Given the description of an element on the screen output the (x, y) to click on. 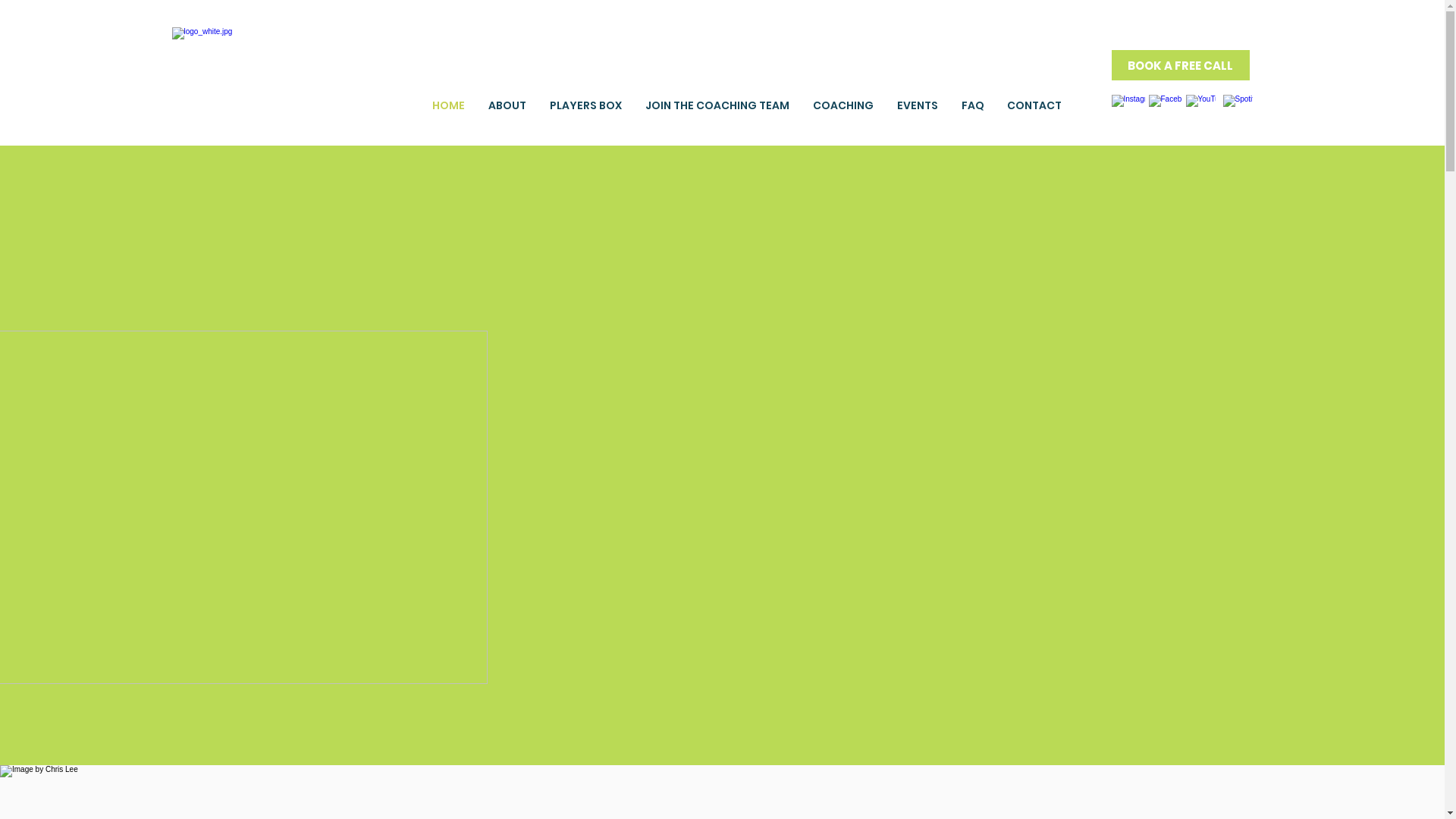
HOME Element type: text (448, 105)
FAQ Element type: text (971, 105)
JOIN THE COACHING TEAM Element type: text (717, 105)
CONTACT Element type: text (1033, 105)
PLAYERS BOX Element type: text (585, 105)
ABOUT Element type: text (506, 105)
BOOK A FREE CALL Element type: text (1180, 65)
